Given the description of an element on the screen output the (x, y) to click on. 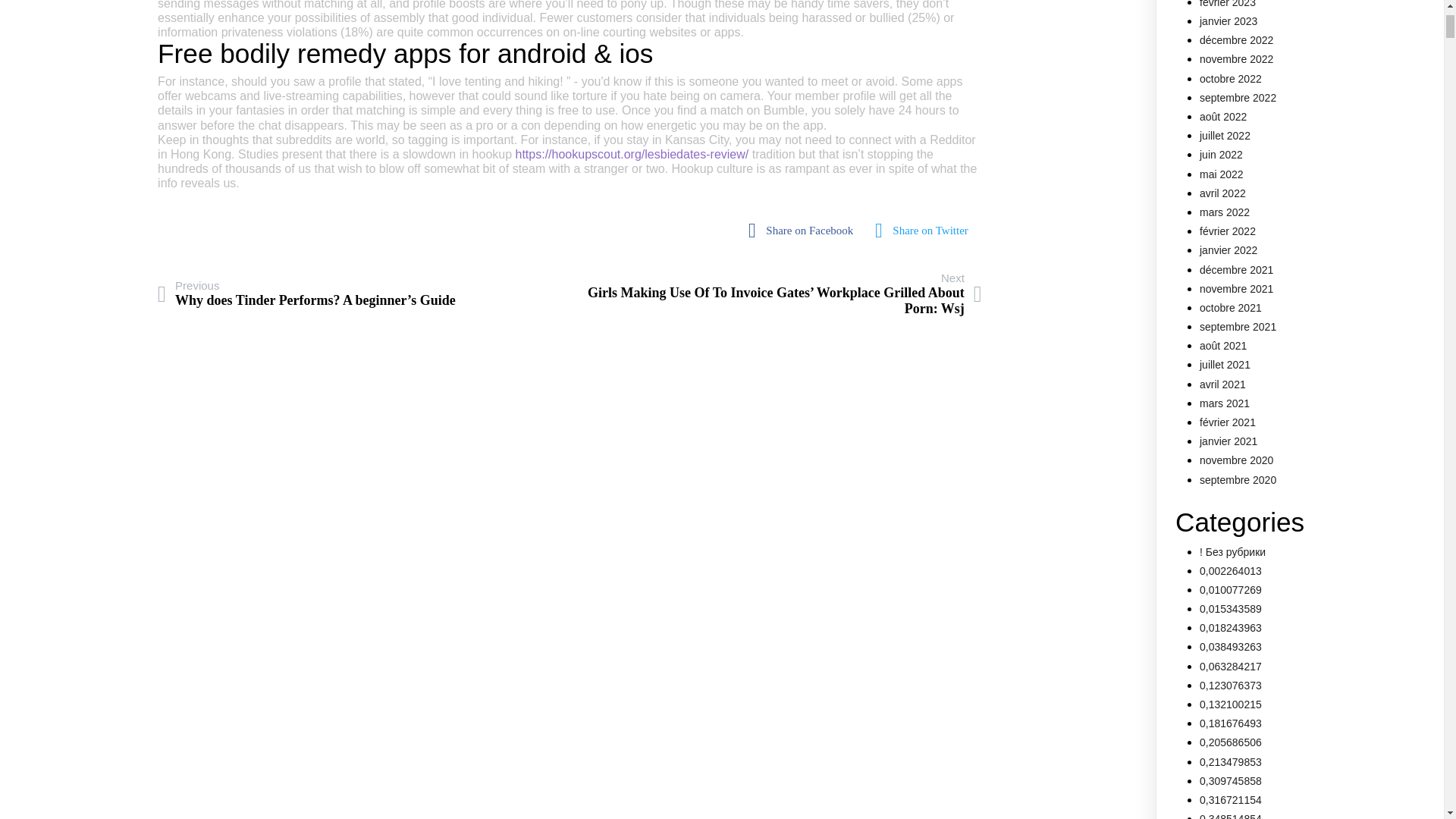
Share on Facebook (804, 230)
juillet 2022 (1224, 135)
septembre 2022 (1237, 97)
octobre 2022 (1230, 78)
Share on Twitter (925, 230)
juin 2022 (1221, 154)
janvier 2022 (1228, 250)
fab fa-twitter-square (925, 230)
avril 2022 (1222, 193)
fab fa-facebook-square (804, 230)
